Given the description of an element on the screen output the (x, y) to click on. 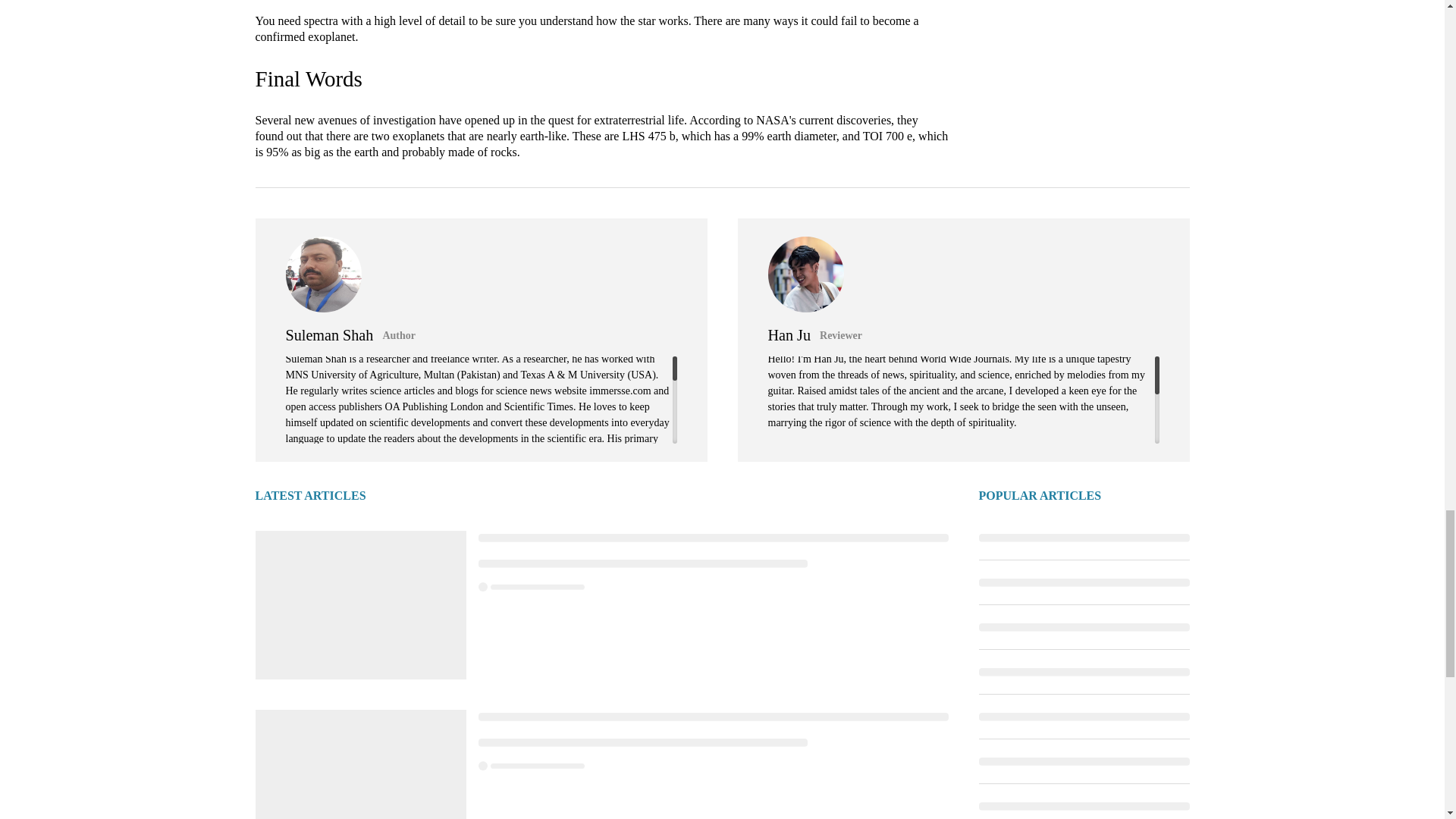
Final Words (307, 78)
Final Words (307, 78)
